Given the description of an element on the screen output the (x, y) to click on. 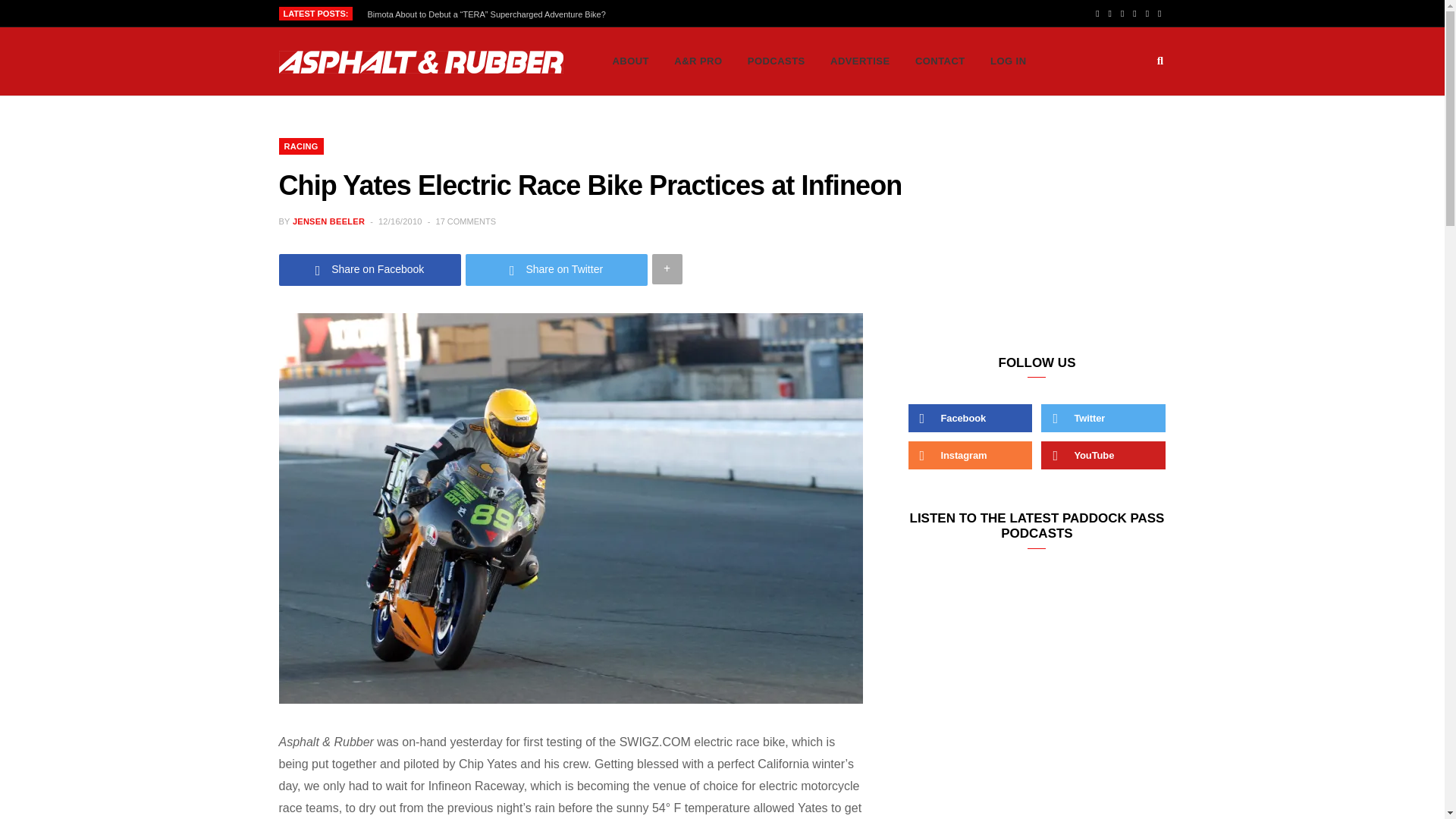
17 COMMENTS (465, 221)
Share on Twitter (556, 269)
RACING (301, 146)
JENSEN BEELER (328, 221)
Share on Facebook (370, 269)
CONTACT (940, 61)
Share on Twitter (556, 269)
PODCASTS (776, 61)
Posts by Jensen Beeler (328, 221)
ADVERTISE (859, 61)
Share on Facebook (370, 269)
